Given the description of an element on the screen output the (x, y) to click on. 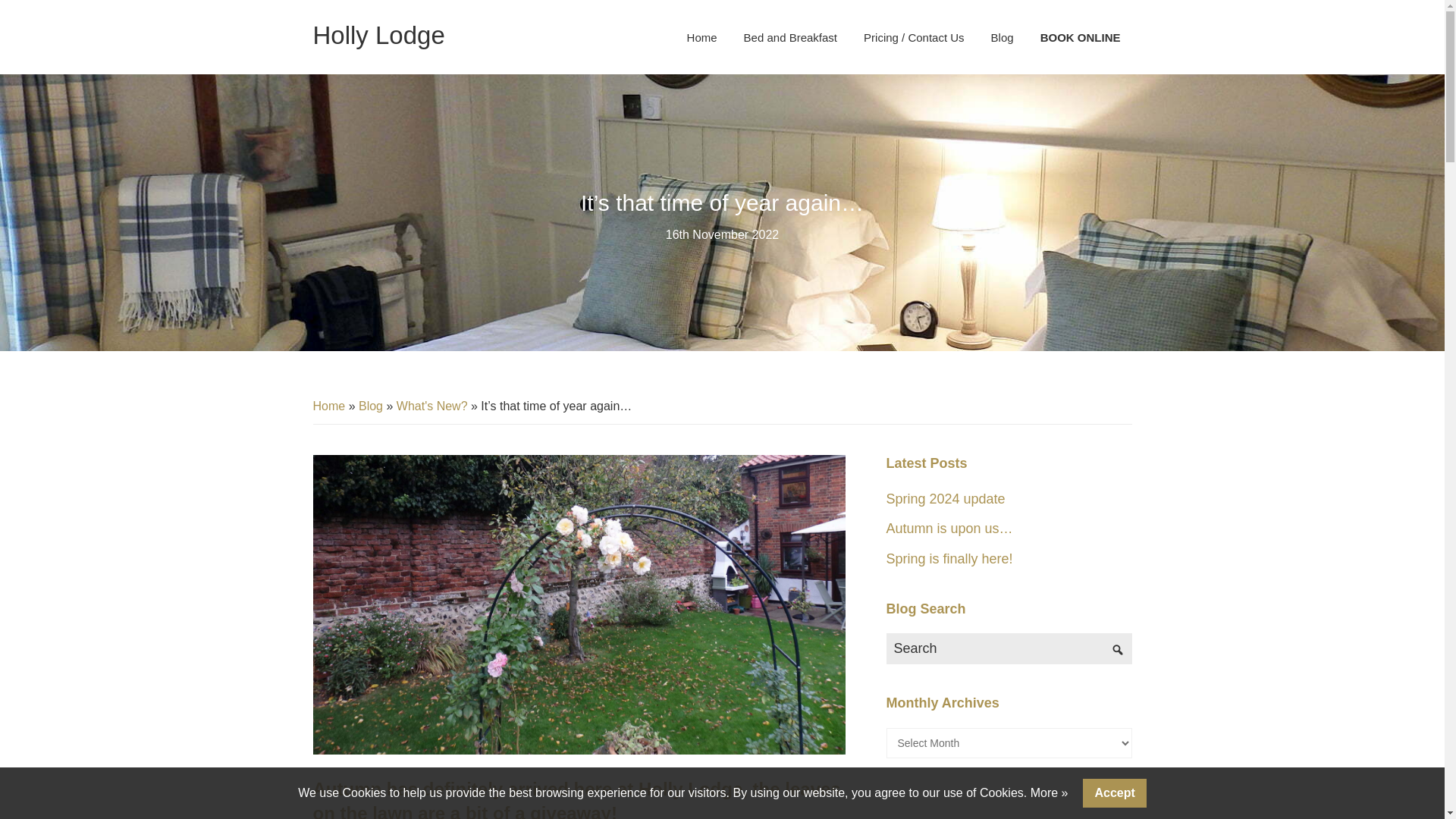
Spring is finally here! (948, 557)
What's New? (431, 405)
Home (702, 37)
Home (329, 405)
Holly Lodge (378, 35)
Bed and Breakfast (790, 37)
Blog (1002, 37)
Accept (1114, 792)
BOOK ONLINE (1080, 37)
